Given the description of an element on the screen output the (x, y) to click on. 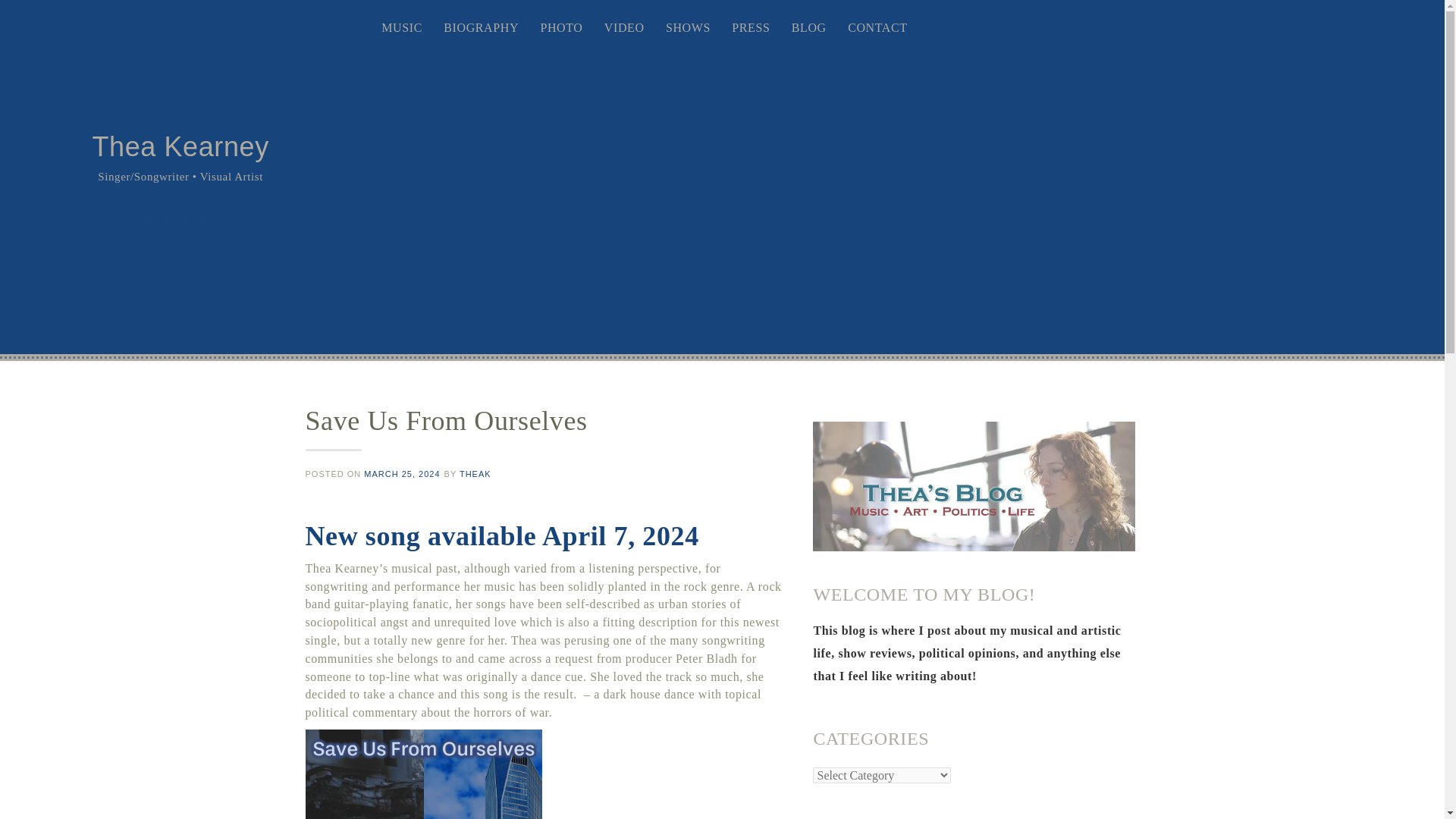
BIOGRAPHY (480, 28)
Biography (480, 28)
PHOTO (561, 28)
SHOWS (687, 28)
MARCH 25, 2024 (401, 473)
VIDEO (624, 28)
Thea Kearney (179, 146)
Blog (809, 28)
Photos (561, 28)
THEAK (476, 473)
